Given the description of an element on the screen output the (x, y) to click on. 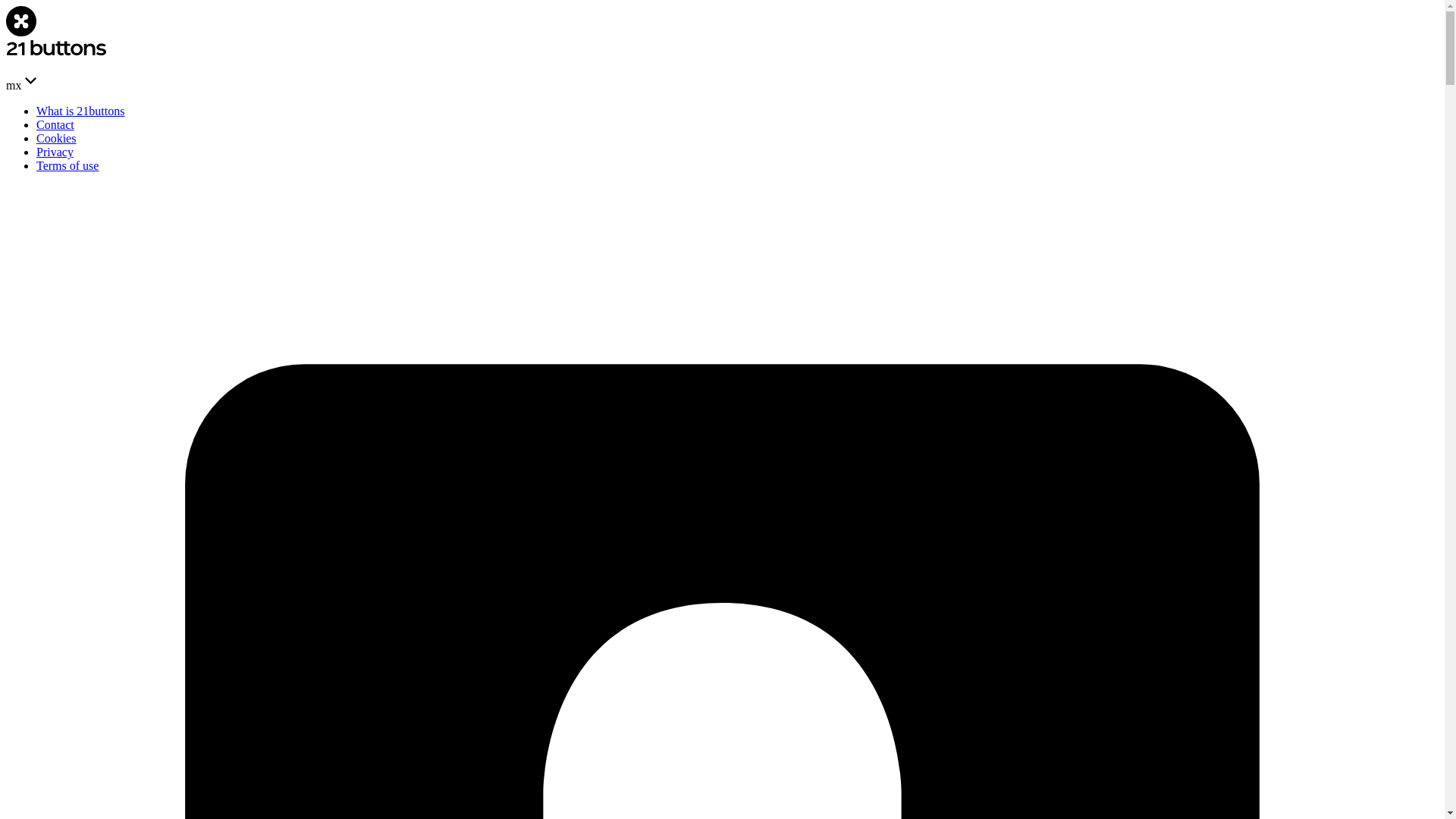
Contact Element type: text (55, 124)
Cookies Element type: text (55, 137)
What is 21buttons Element type: text (80, 110)
Privacy Element type: text (54, 151)
Terms of use Element type: text (67, 165)
